Given the description of an element on the screen output the (x, y) to click on. 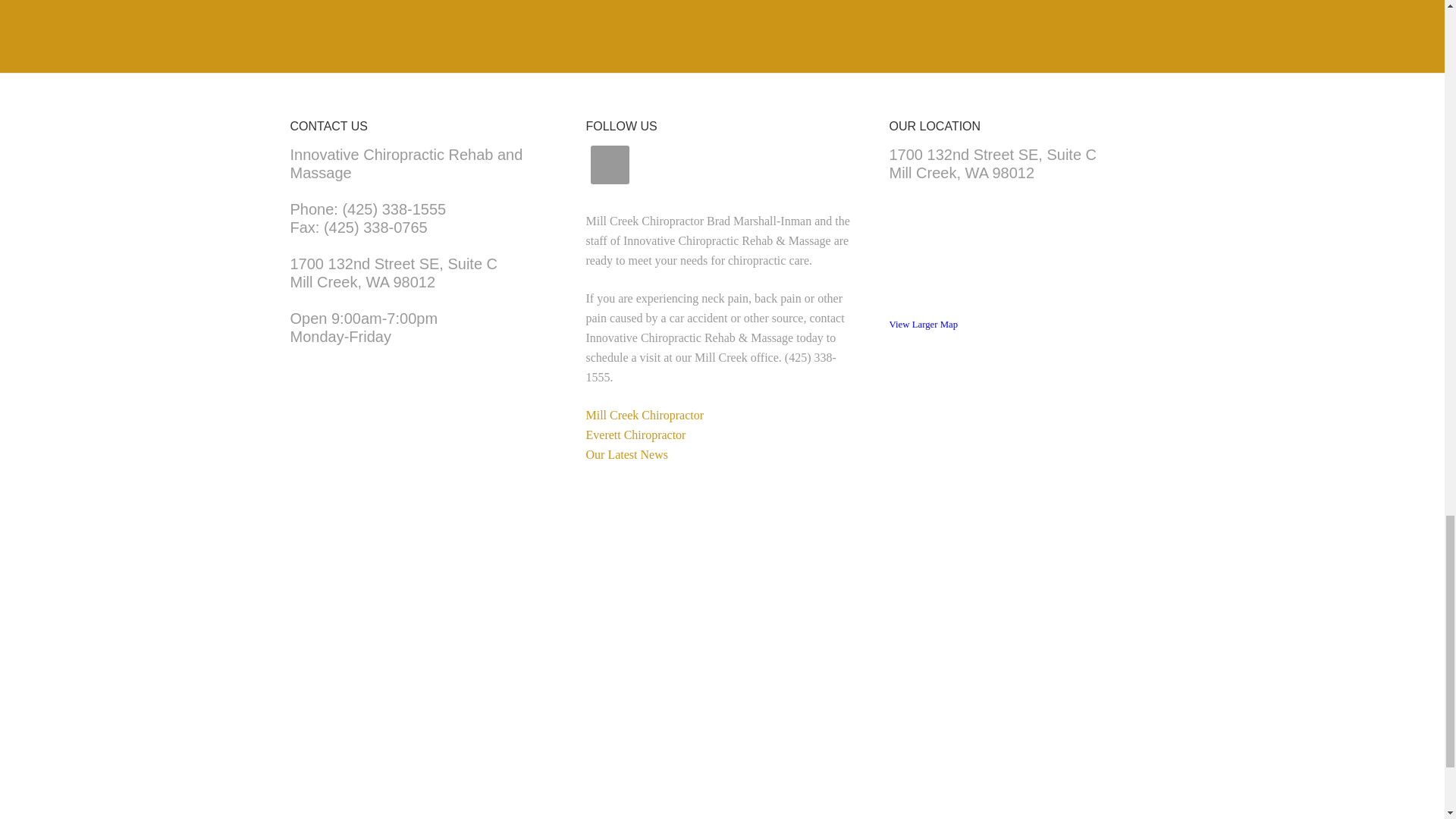
Everett Chiropractor (393, 272)
Mill Creek Chiropractor (635, 434)
View Larger Map (644, 414)
Our Latest News (923, 324)
